Given the description of an element on the screen output the (x, y) to click on. 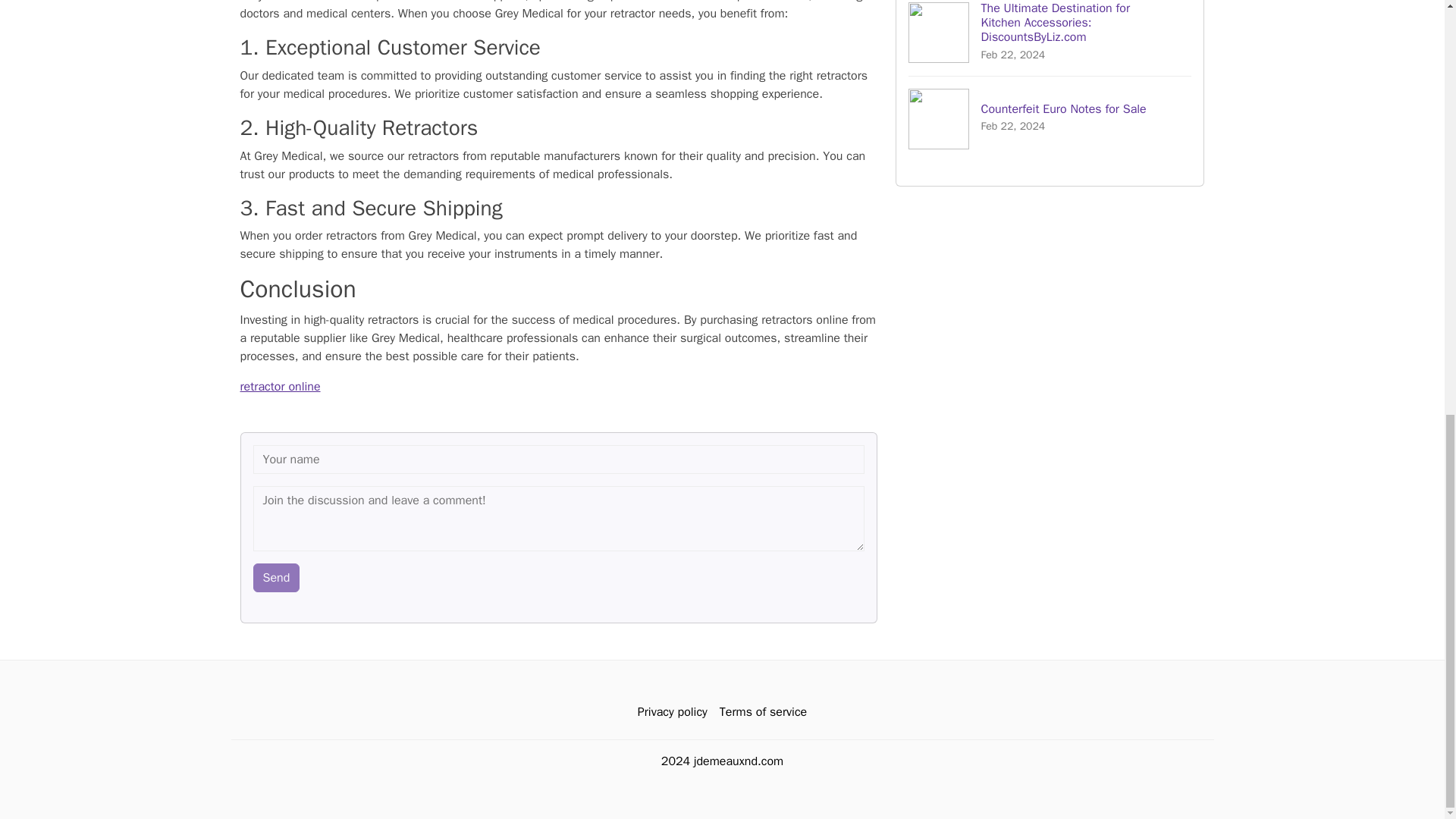
retractor online (280, 386)
Privacy policy (672, 711)
Terms of service (762, 711)
Send (276, 576)
Send (1050, 118)
